Given the description of an element on the screen output the (x, y) to click on. 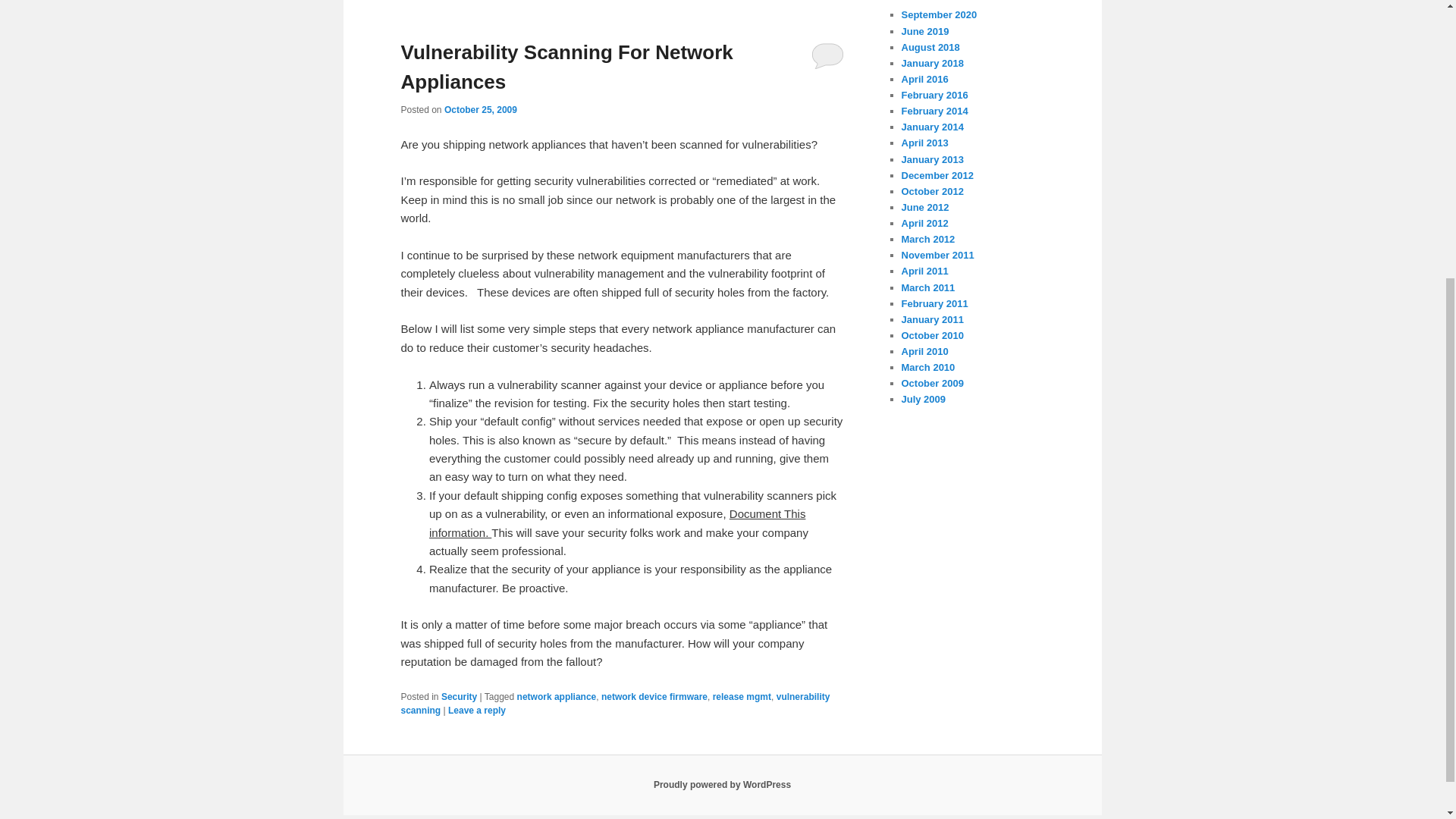
March 2010 (928, 367)
January 2013 (931, 159)
April 2016 (924, 79)
vulnerability scanning (614, 703)
October 25, 2009 (480, 109)
February 2011 (934, 303)
April 2013 (924, 142)
Vulnerability Scanning For Network Appliances (566, 66)
October 2012 (931, 191)
March 2011 (928, 287)
